Given the description of an element on the screen output the (x, y) to click on. 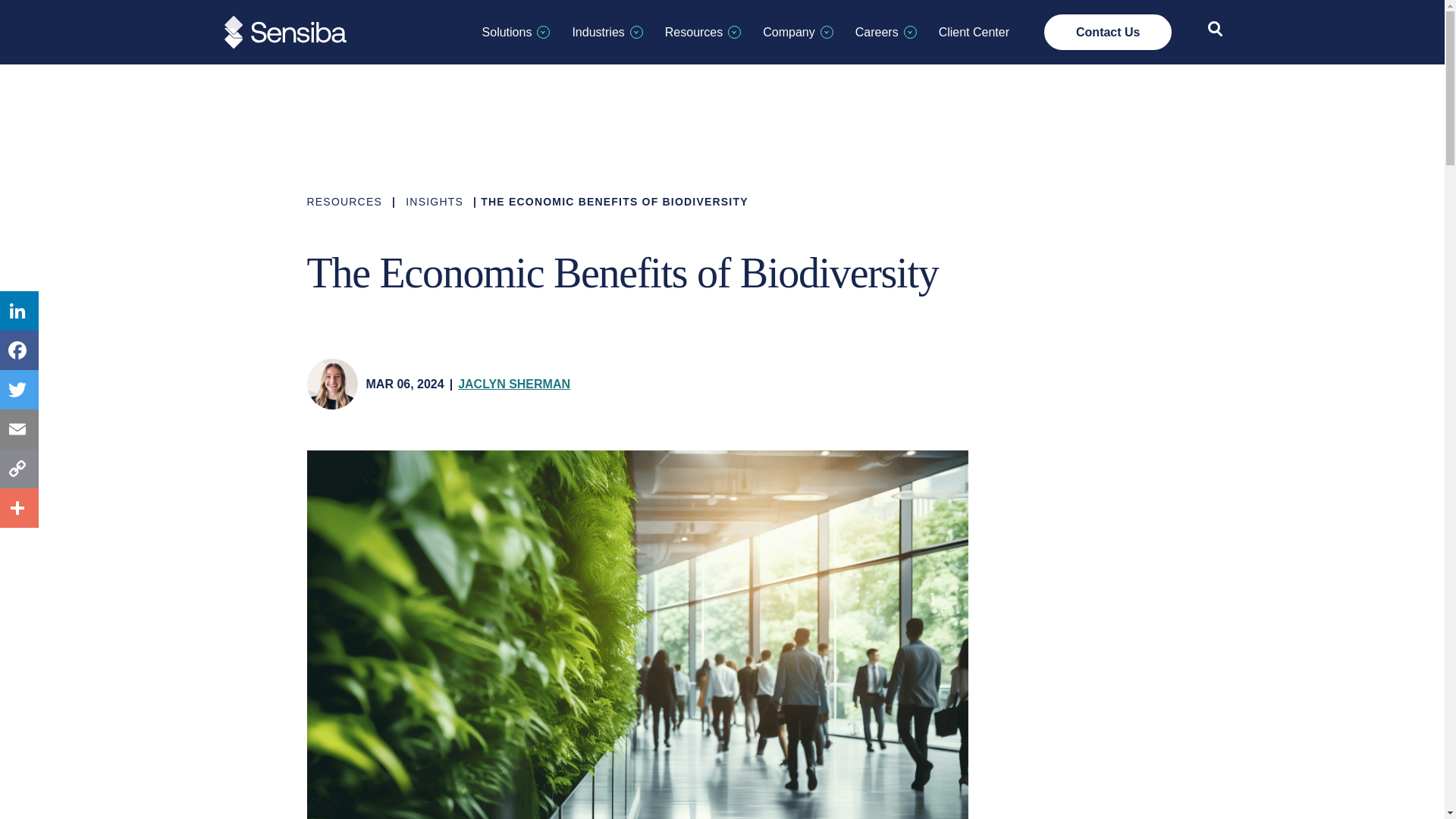
Solutions (515, 31)
Copy Link (19, 468)
Twitter (19, 389)
Facebook (19, 350)
Industries (607, 31)
Email (19, 428)
LinkedIn (19, 310)
